Given the description of an element on the screen output the (x, y) to click on. 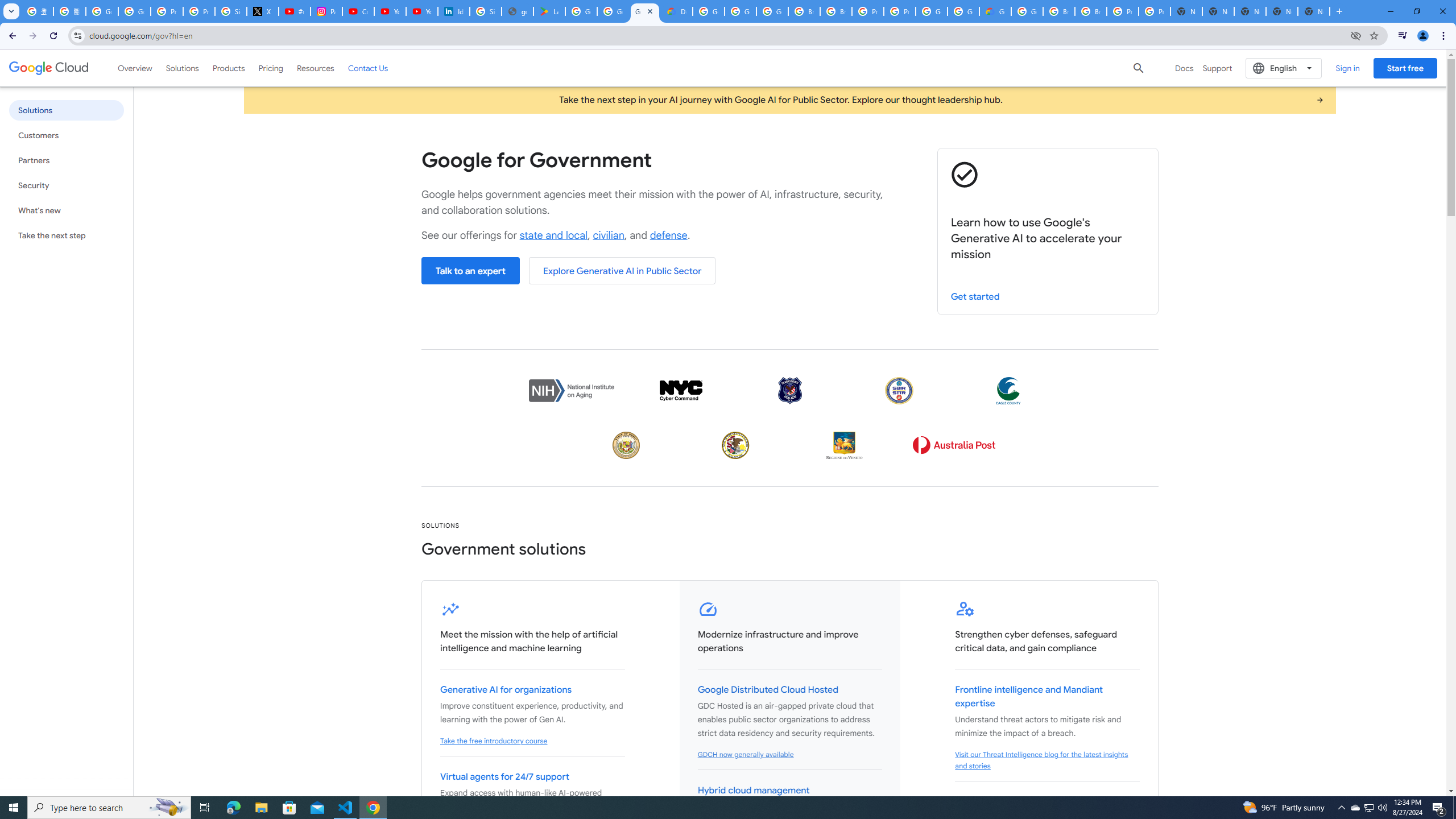
Talk to an expert (469, 270)
Eagle County (1008, 390)
Google Cloud Estimate Summary (995, 11)
civilian (608, 235)
Google Cloud Platform (708, 11)
Take the free introductory course (493, 740)
defense (668, 235)
Google Workspace - Specific Terms (613, 11)
Hybrid cloud management (753, 790)
